Given the description of an element on the screen output the (x, y) to click on. 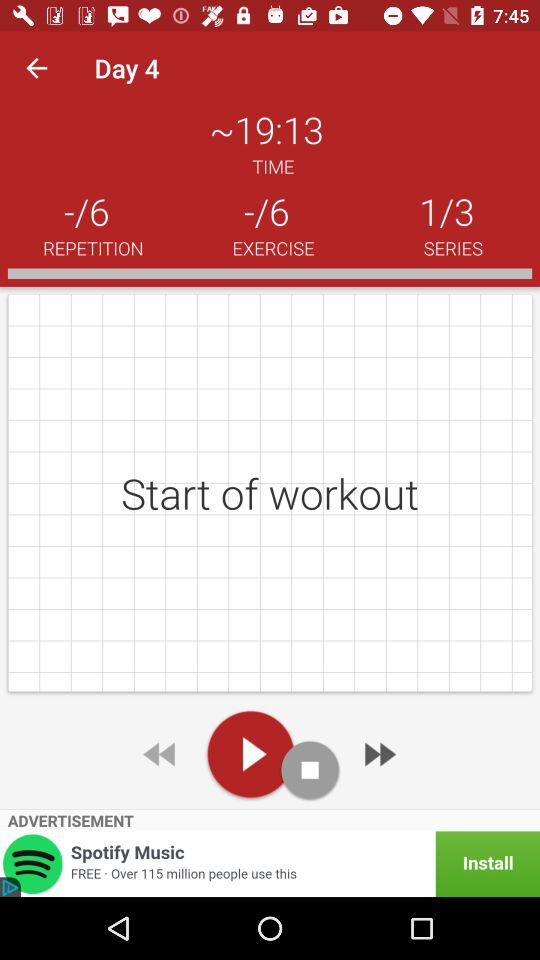
select the icon below advertisement (270, 863)
